Given the description of an element on the screen output the (x, y) to click on. 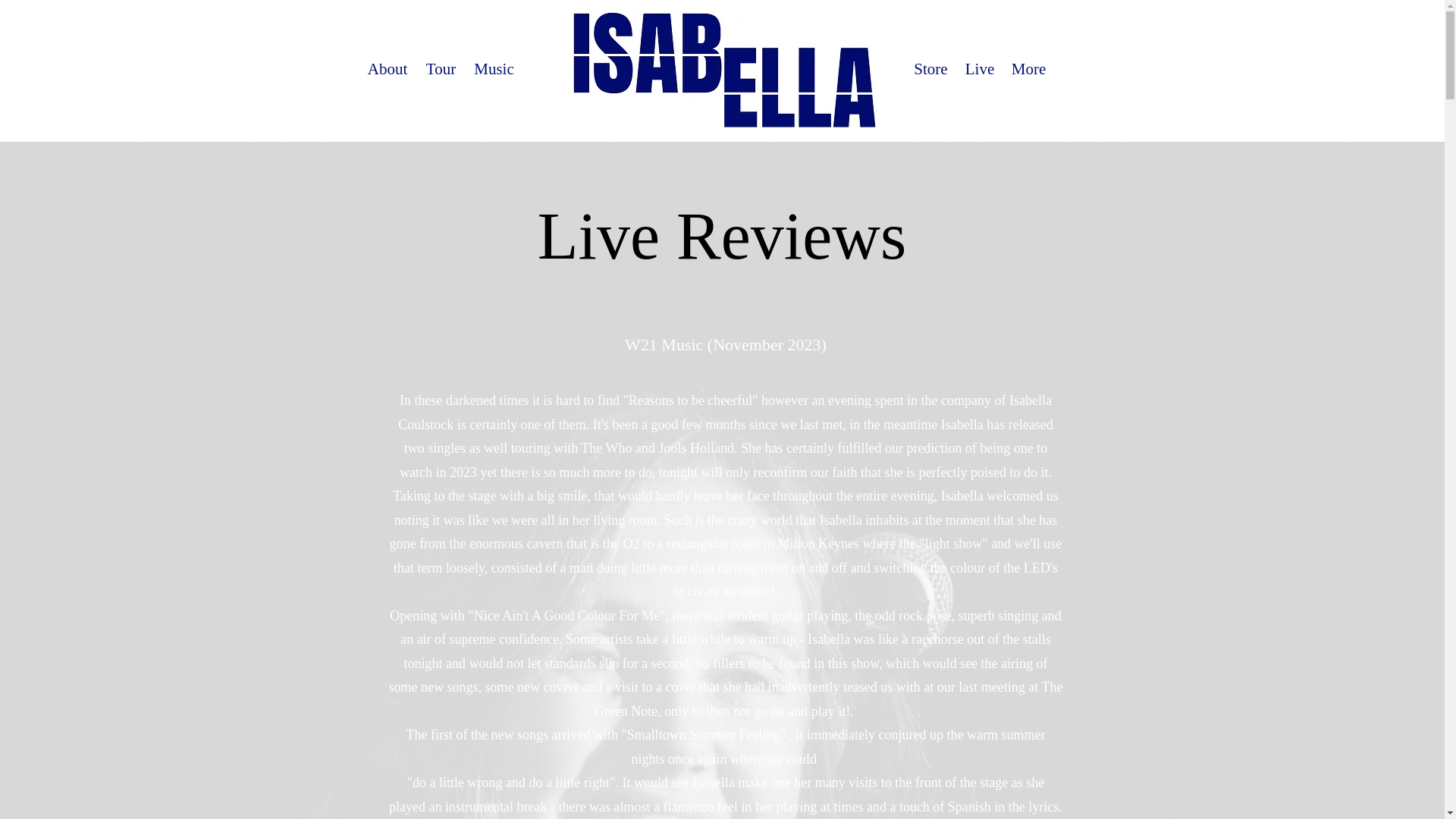
Live (978, 69)
Tour (440, 69)
Music (493, 69)
Store (930, 69)
About (387, 69)
